Given the description of an element on the screen output the (x, y) to click on. 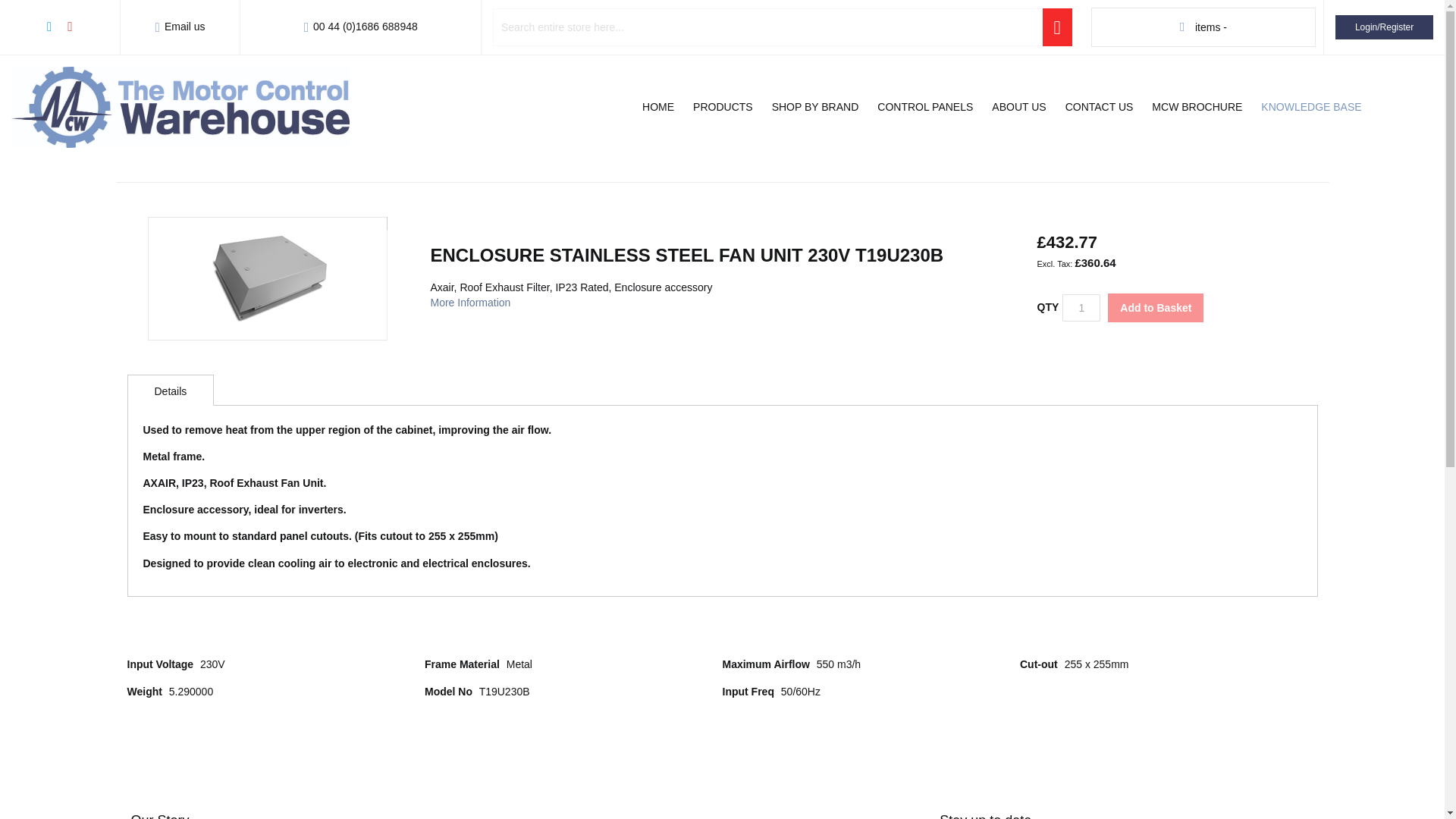
MCW Brochure (1196, 106)
CONTACT US (1099, 106)
More Information (470, 302)
Home (657, 106)
Shop by Brand (815, 106)
MCW BROCHURE (1196, 106)
About Us (1018, 106)
Control Panels (924, 106)
Knowledge Base (1310, 106)
Add to Basket (1156, 307)
